Given the description of an element on the screen output the (x, y) to click on. 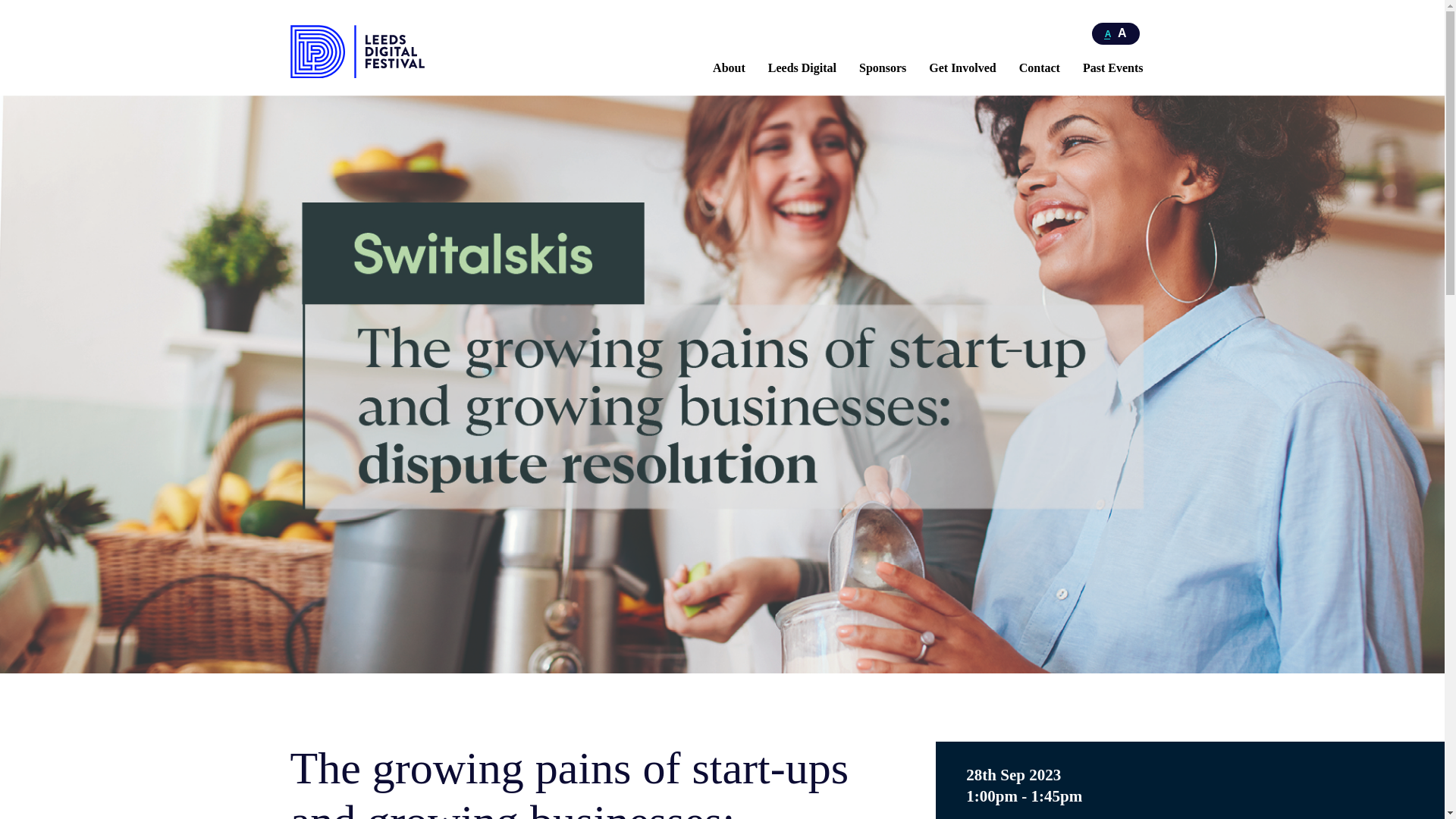
About (729, 68)
Get Involved (961, 68)
Sponsors (882, 68)
Leeds Digital (801, 68)
Past Events (1112, 68)
Contact (1039, 68)
A A (1116, 33)
